Given the description of an element on the screen output the (x, y) to click on. 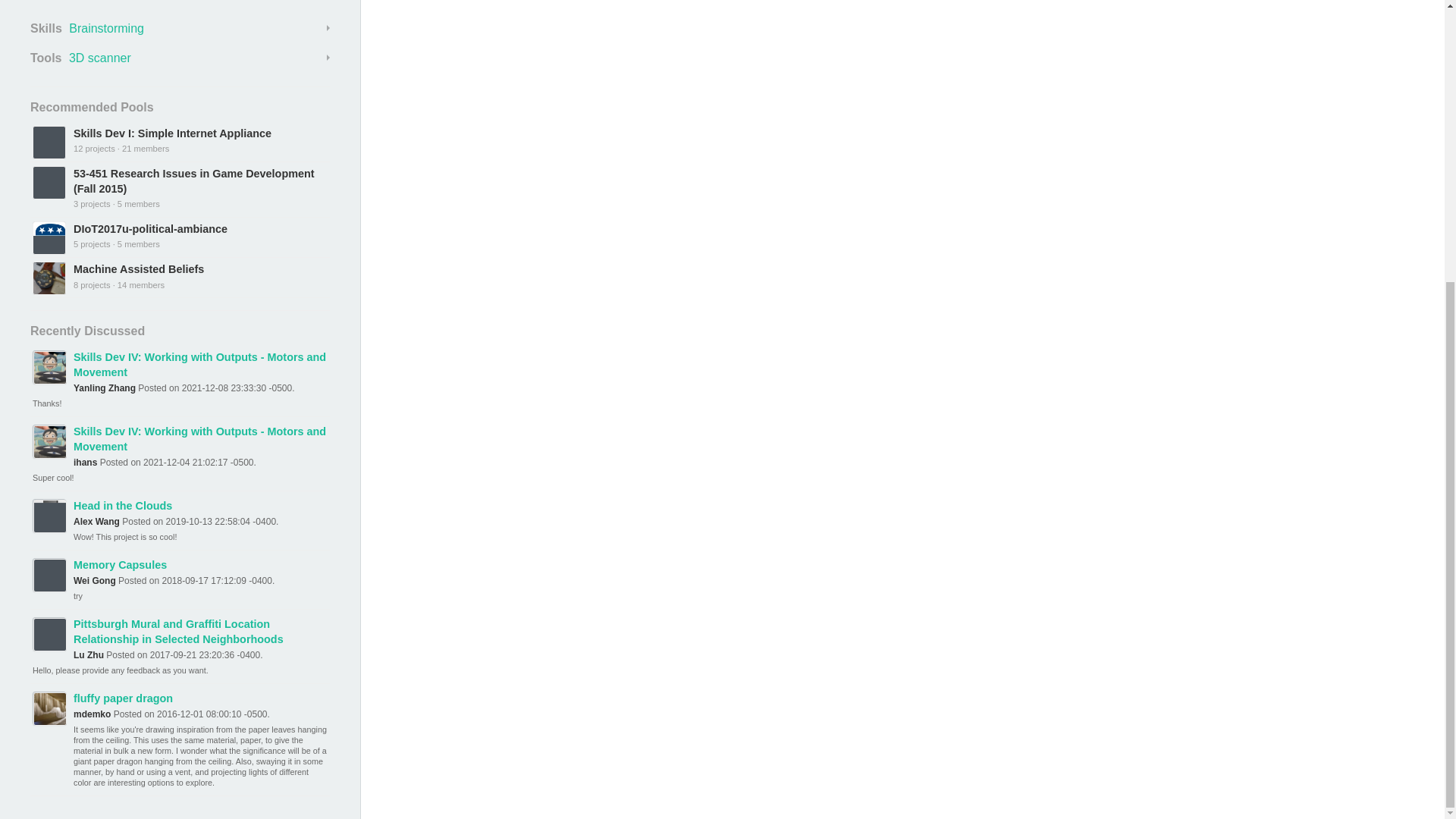
Skills Brainstorming (180, 28)
